Given the description of an element on the screen output the (x, y) to click on. 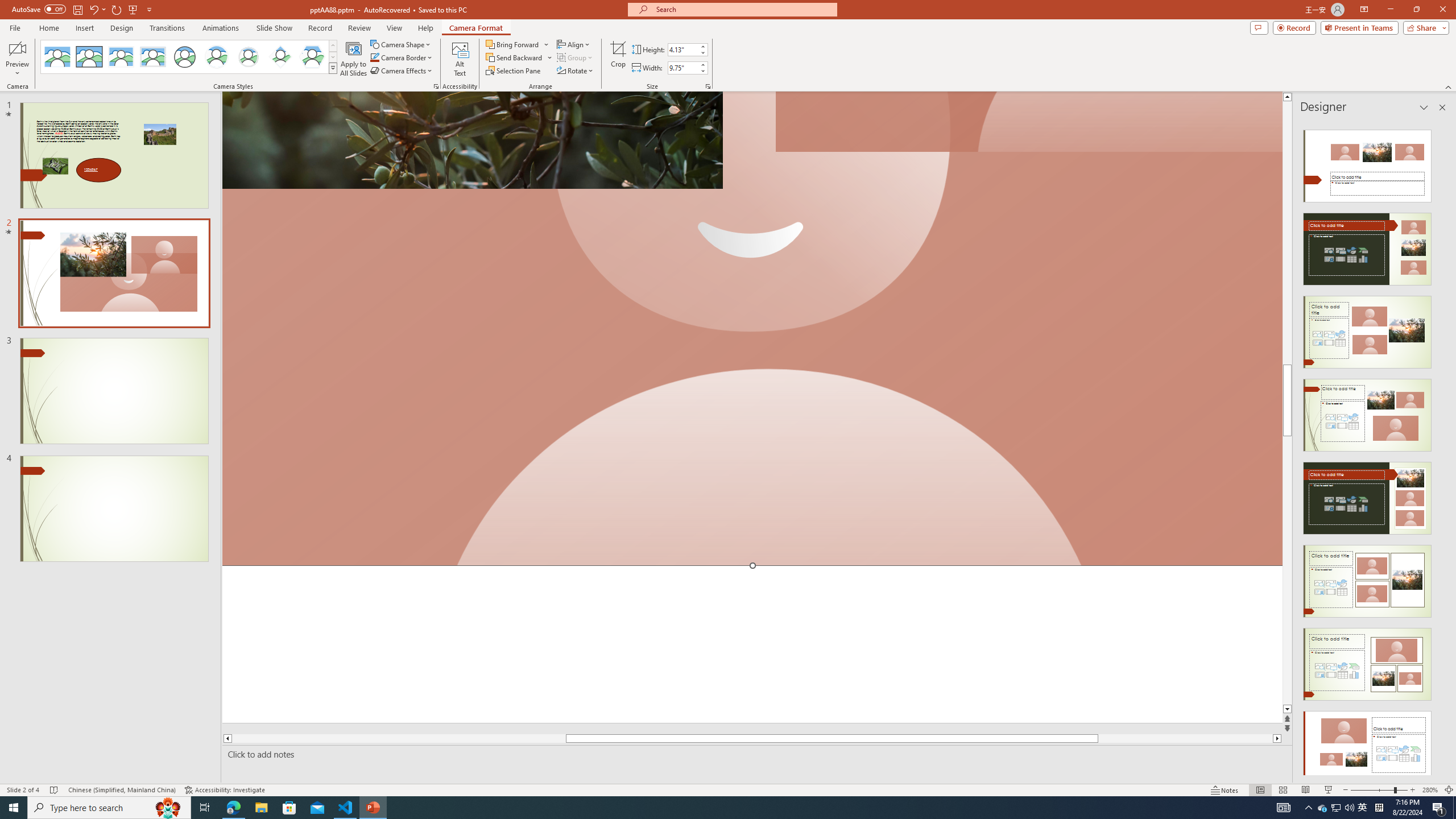
Zoom 280% (1430, 790)
Recommended Design: Design Idea (1366, 162)
Enable Camera Preview (17, 48)
Apply to All Slides (353, 58)
Camera 7, No camera detected. (1028, 122)
No Style (57, 56)
Size and Position... (707, 85)
